Given the description of an element on the screen output the (x, y) to click on. 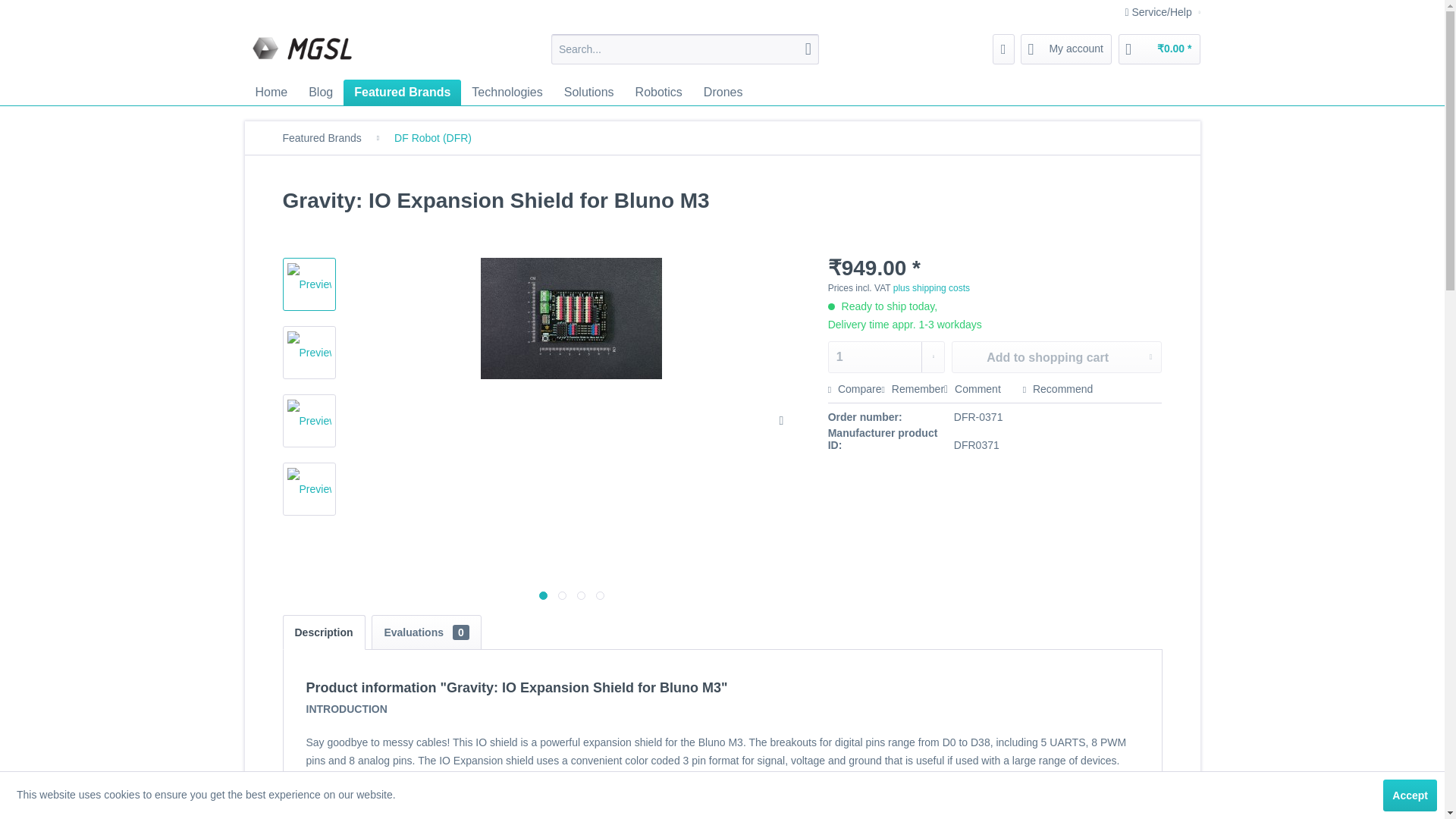
Blog (320, 92)
Robotics (658, 92)
Featured Brands (402, 92)
Shopping cart (1158, 49)
Drones (723, 92)
Home (271, 92)
Solutions (588, 92)
Technologies (507, 92)
My account (1066, 49)
Blog (320, 92)
